Given the description of an element on the screen output the (x, y) to click on. 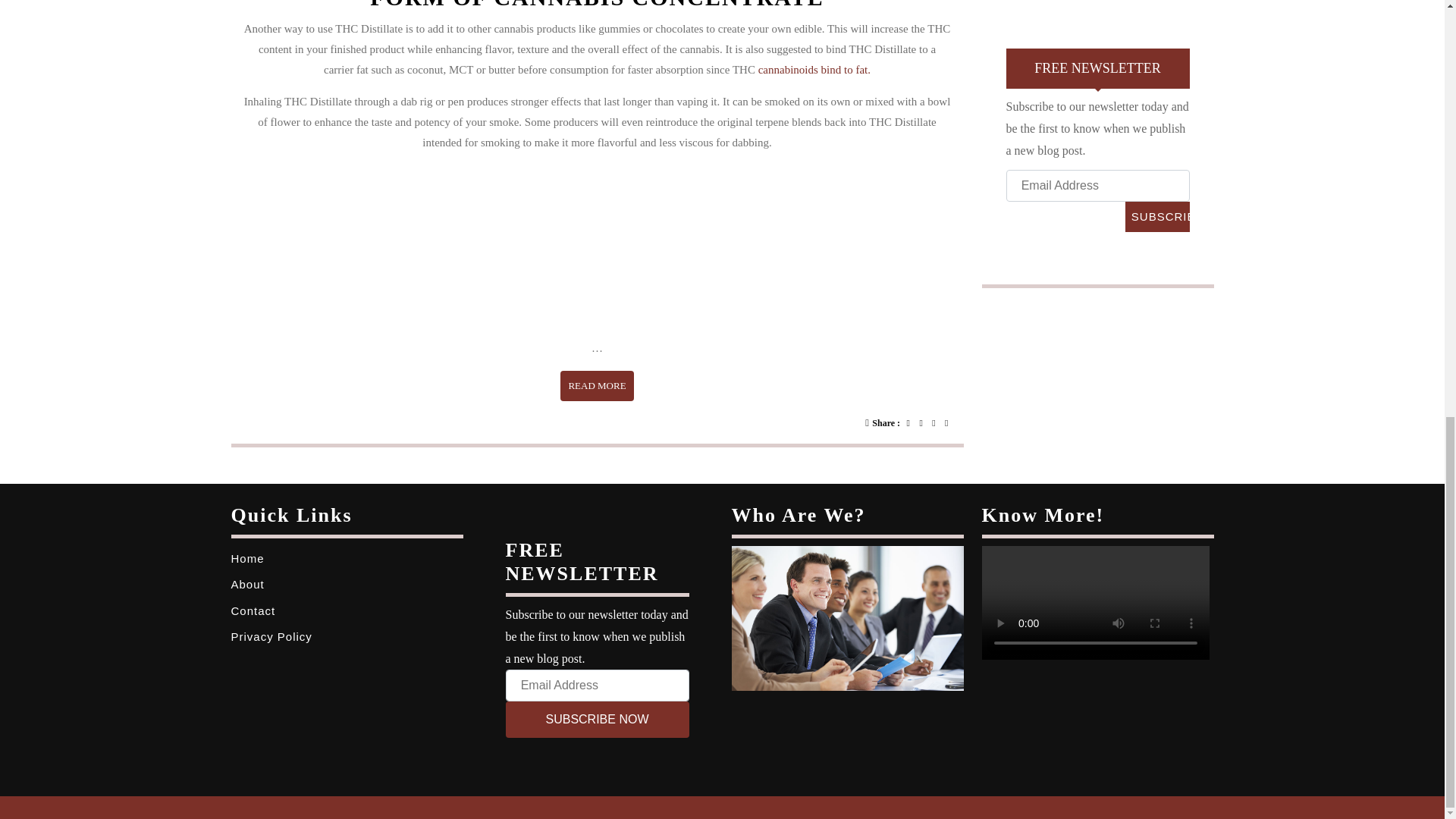
cannabinoids bind to fat. (814, 69)
SUBSCRIBE NOW (596, 386)
SUBSCRIBE NOW (1157, 216)
Home (1157, 216)
SUBSCRIBE NOW (246, 558)
About (596, 719)
